Given the description of an element on the screen output the (x, y) to click on. 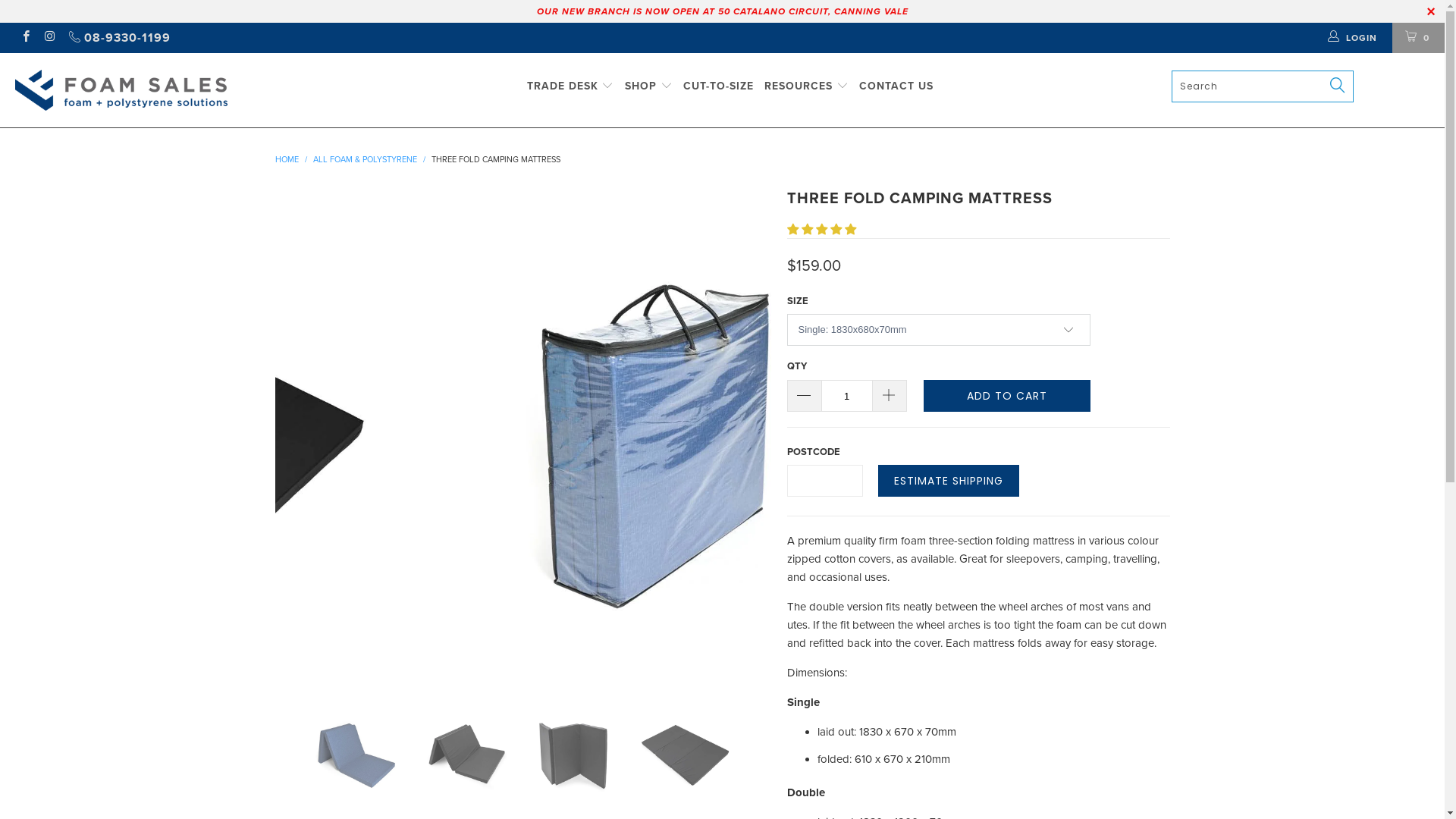
ESTIMATE SHIPPING Element type: text (948, 480)
HOME Element type: text (286, 159)
Foam Sales on Instagram Element type: hover (48, 37)
0 Element type: text (1418, 37)
ALL FOAM & POLYSTYRENE Element type: text (364, 159)
08-9330-1199 Element type: text (117, 37)
Foam Sales on Facebook Element type: hover (24, 37)
CONTACT US Element type: text (896, 86)
ADD TO CART Element type: text (1006, 395)
LOGIN Element type: text (1352, 37)
RESOURCES Element type: text (806, 86)
SHOP Element type: text (648, 86)
CUT-TO-SIZE Element type: text (718, 86)
TRADE DESK Element type: text (570, 86)
Foam Sales Element type: hover (151, 90)
